Given the description of an element on the screen output the (x, y) to click on. 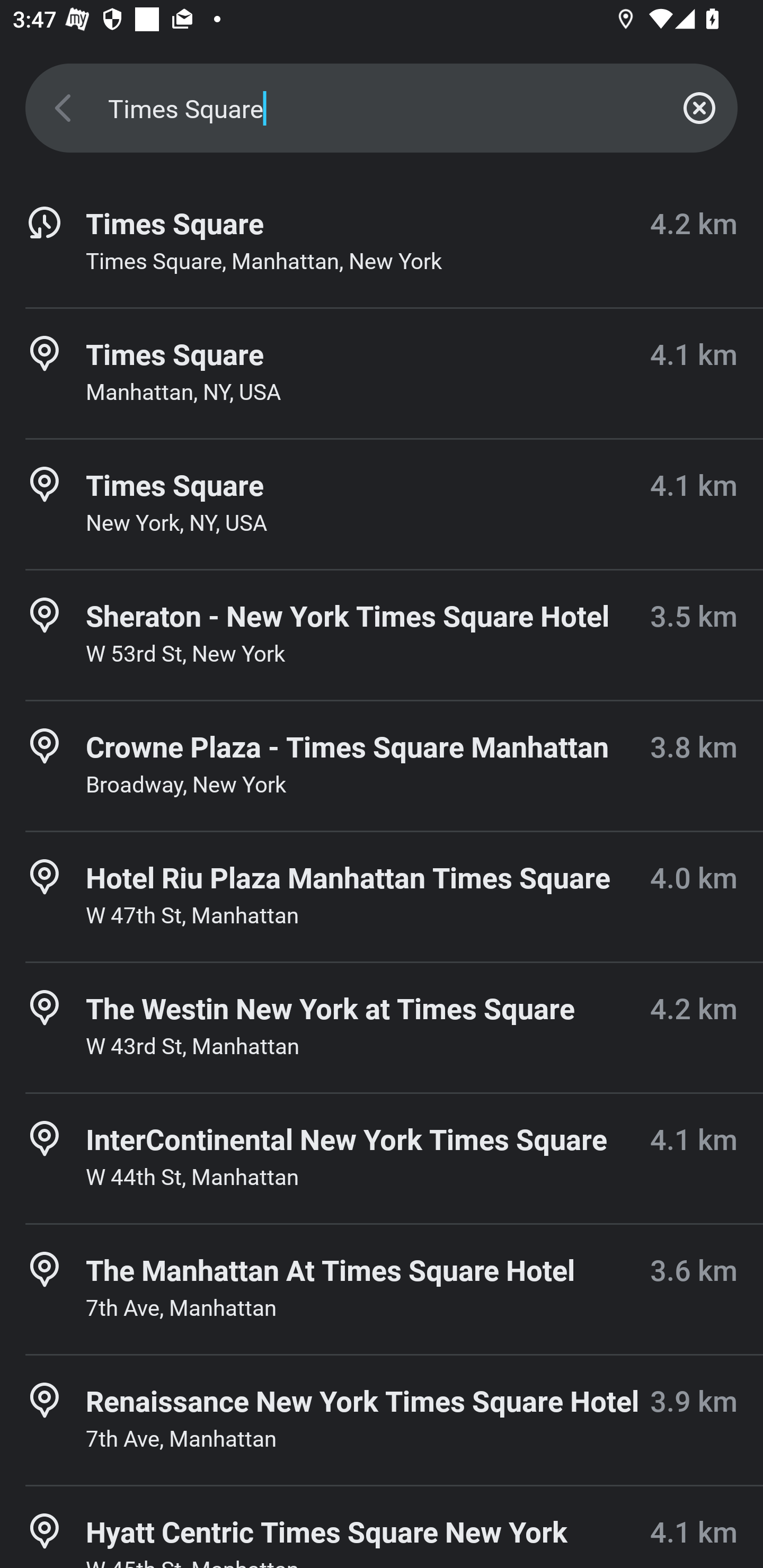
Times Square SEARCH_SCREEN_SEARCH_FIELD (381, 108)
Times Square 4.1 km Manhattan, NY, USA (381, 372)
Times Square 4.1 km New York, NY, USA (381, 504)
